Given the description of an element on the screen output the (x, y) to click on. 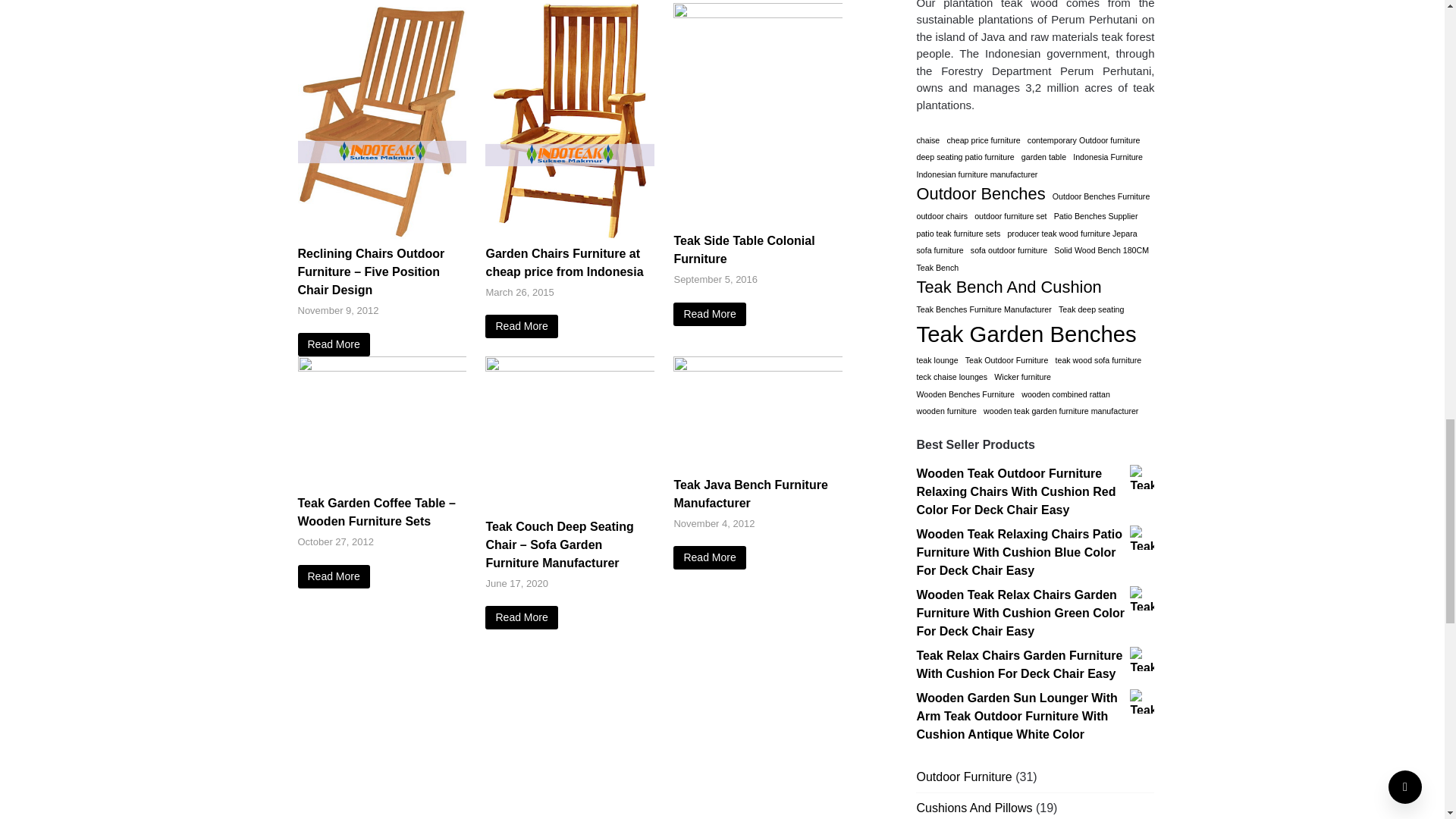
Teak Java Bench Furniture Manufacturer (708, 557)
Teak Side Table Colonial Furniture (708, 313)
Garden Chairs Furniture  at cheap price from Indonesia (520, 326)
Garden Chairs Furniture  at cheap price from Indonesia (568, 235)
Teak Java Bench Furniture Manufacturer (757, 367)
Teak Side Table Colonial Furniture (757, 13)
Read More (333, 344)
